Given the description of an element on the screen output the (x, y) to click on. 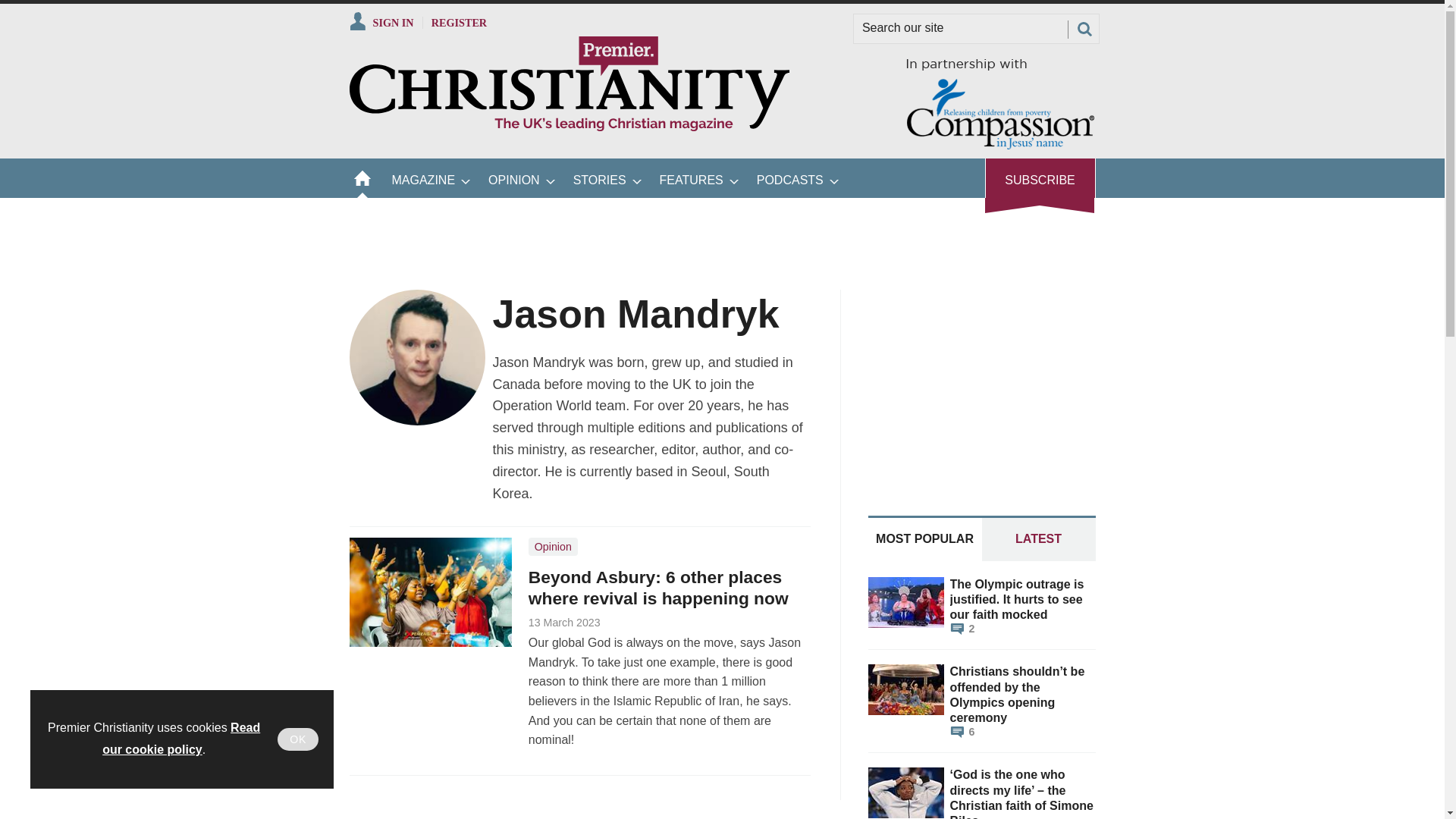
OK (298, 739)
Site name (569, 126)
3rd party ad content (980, 384)
Read our cookie policy (180, 738)
3rd party ad content (609, 232)
REGISTER (458, 22)
SIGN IN (381, 22)
SEARCH (1083, 28)
